Given the description of an element on the screen output the (x, y) to click on. 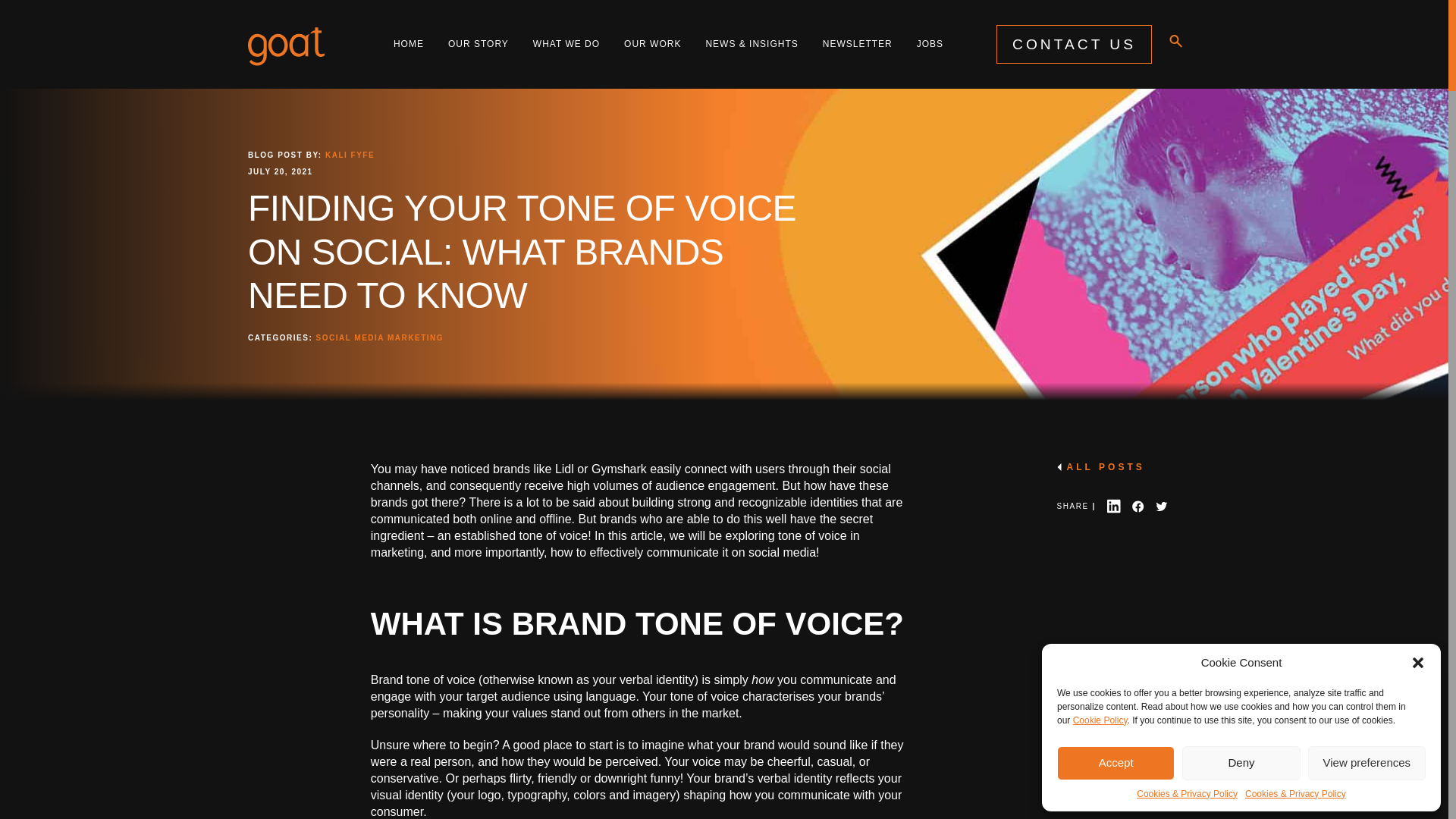
View preferences (1366, 763)
KALI FYFE (347, 154)
OUR WORK (652, 43)
HOME (408, 43)
NEWSLETTER (857, 43)
ALL POSTS (1121, 467)
Accept (1115, 763)
WHAT WE DO (565, 43)
Deny (1241, 763)
SOCIAL MEDIA MARKETING (379, 337)
JOBS (930, 43)
OUR STORY (478, 43)
CONTACT US (1073, 44)
Cookie Policy (1099, 719)
